Given the description of an element on the screen output the (x, y) to click on. 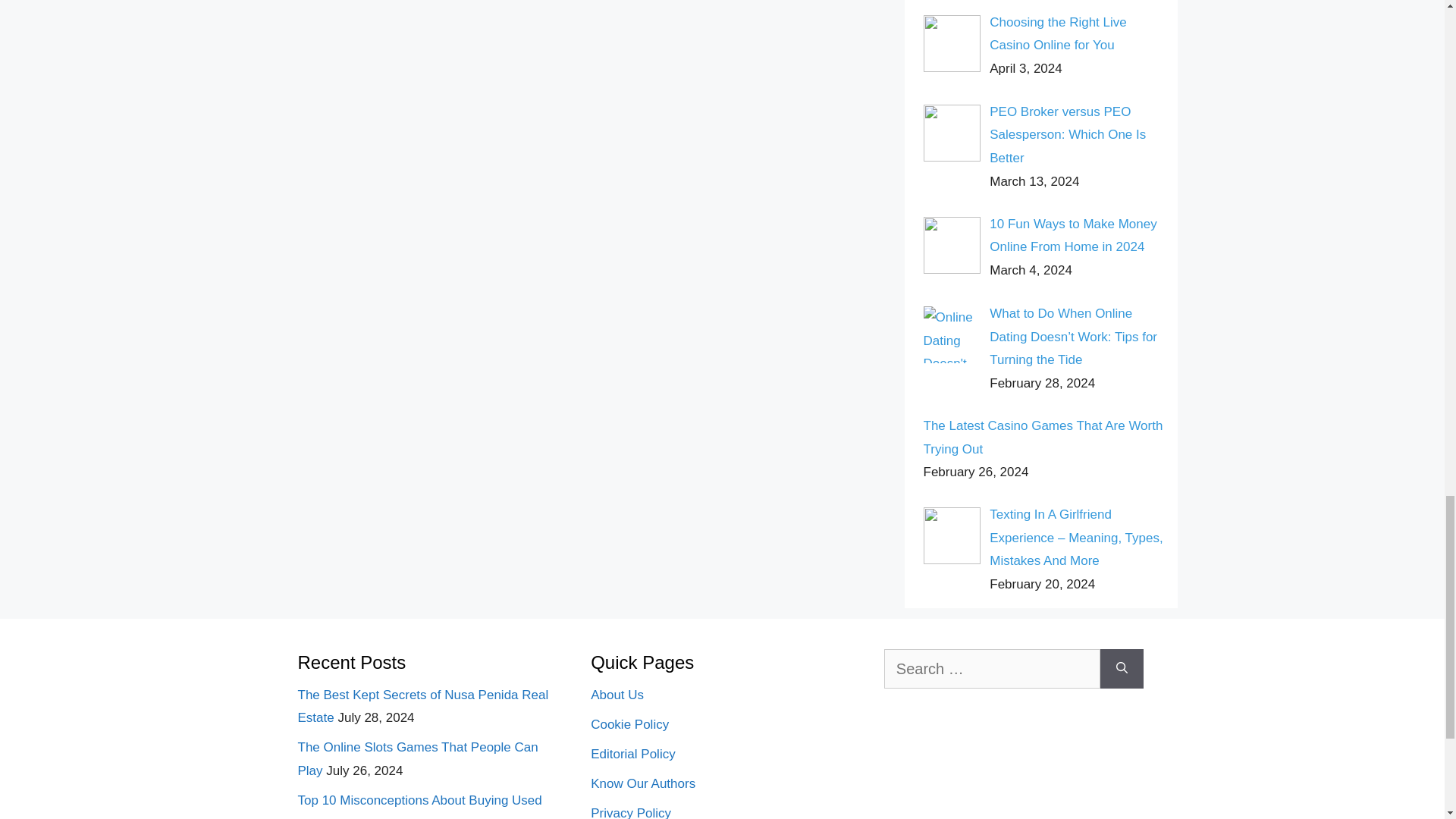
The Latest Casino Games That Are Worth Trying Out (1043, 437)
Choosing the Right Live Casino Online for You (1058, 34)
10 Fun Ways to Make Money Online From Home in 2024 (1073, 235)
PEO Broker versus PEO Salesperson: Which One Is Better (1067, 134)
Search for: (991, 668)
